Given the description of an element on the screen output the (x, y) to click on. 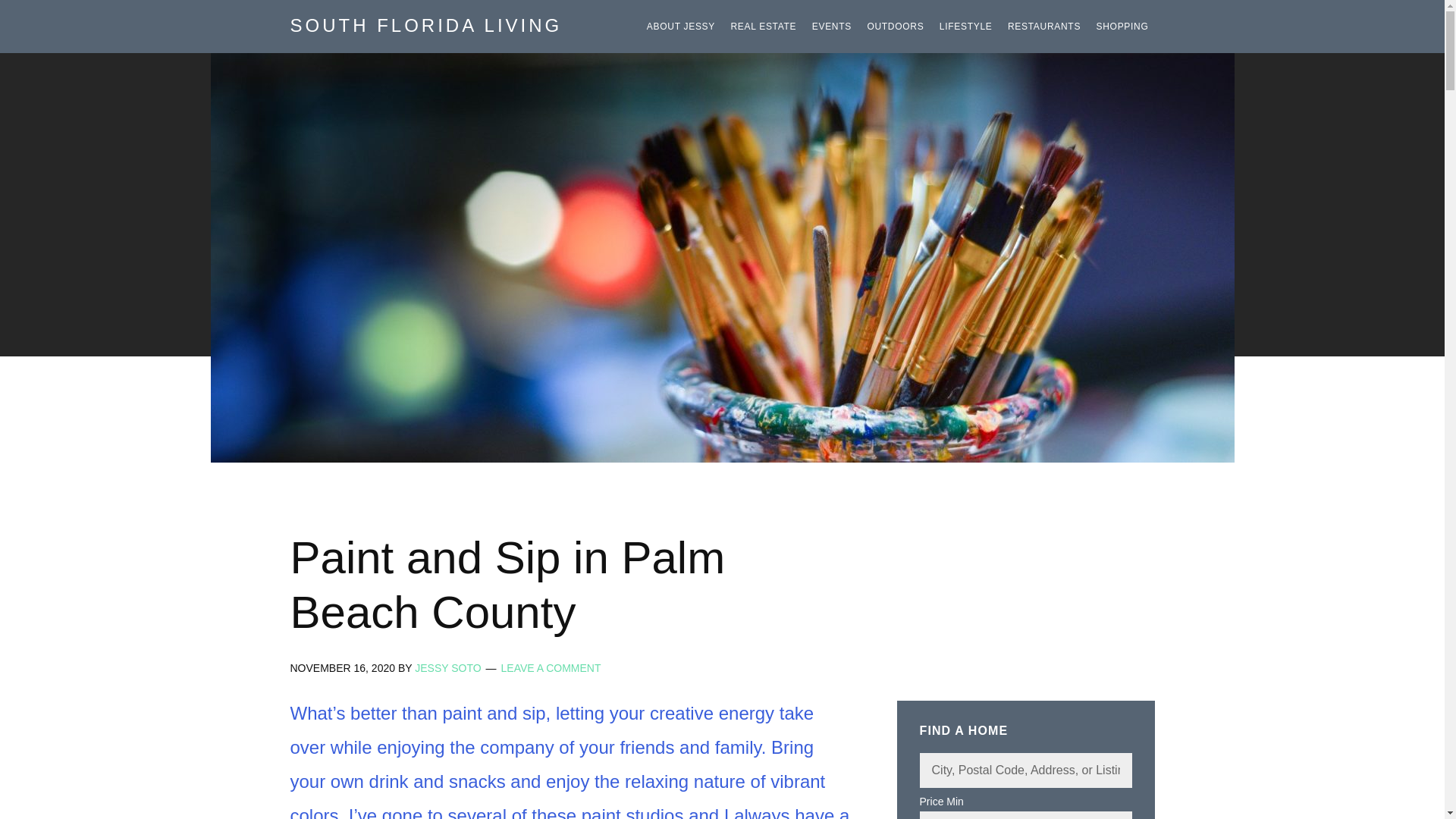
OUTDOORS (894, 26)
LIFESTYLE (965, 26)
REAL ESTATE (763, 26)
SOUTH FLORIDA LIVING (425, 25)
RESTAURANTS (1043, 26)
ABOUT JESSY (680, 26)
EVENTS (831, 26)
